Given the description of an element on the screen output the (x, y) to click on. 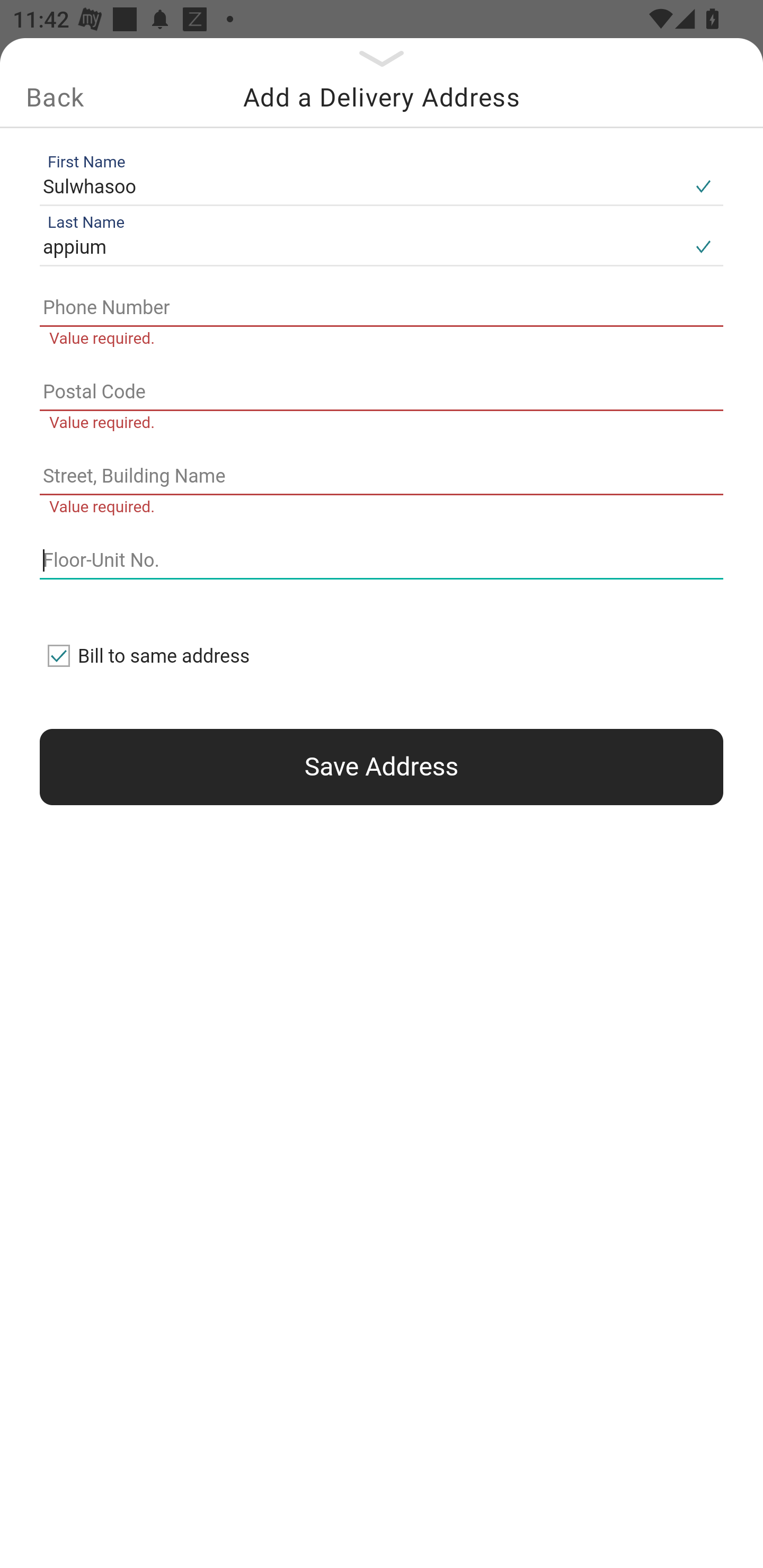
Back (54, 96)
Add a Delivery Address (381, 96)
Sulwhasoo (361, 186)
appium (361, 247)
Save Address (381, 767)
